Given the description of an element on the screen output the (x, y) to click on. 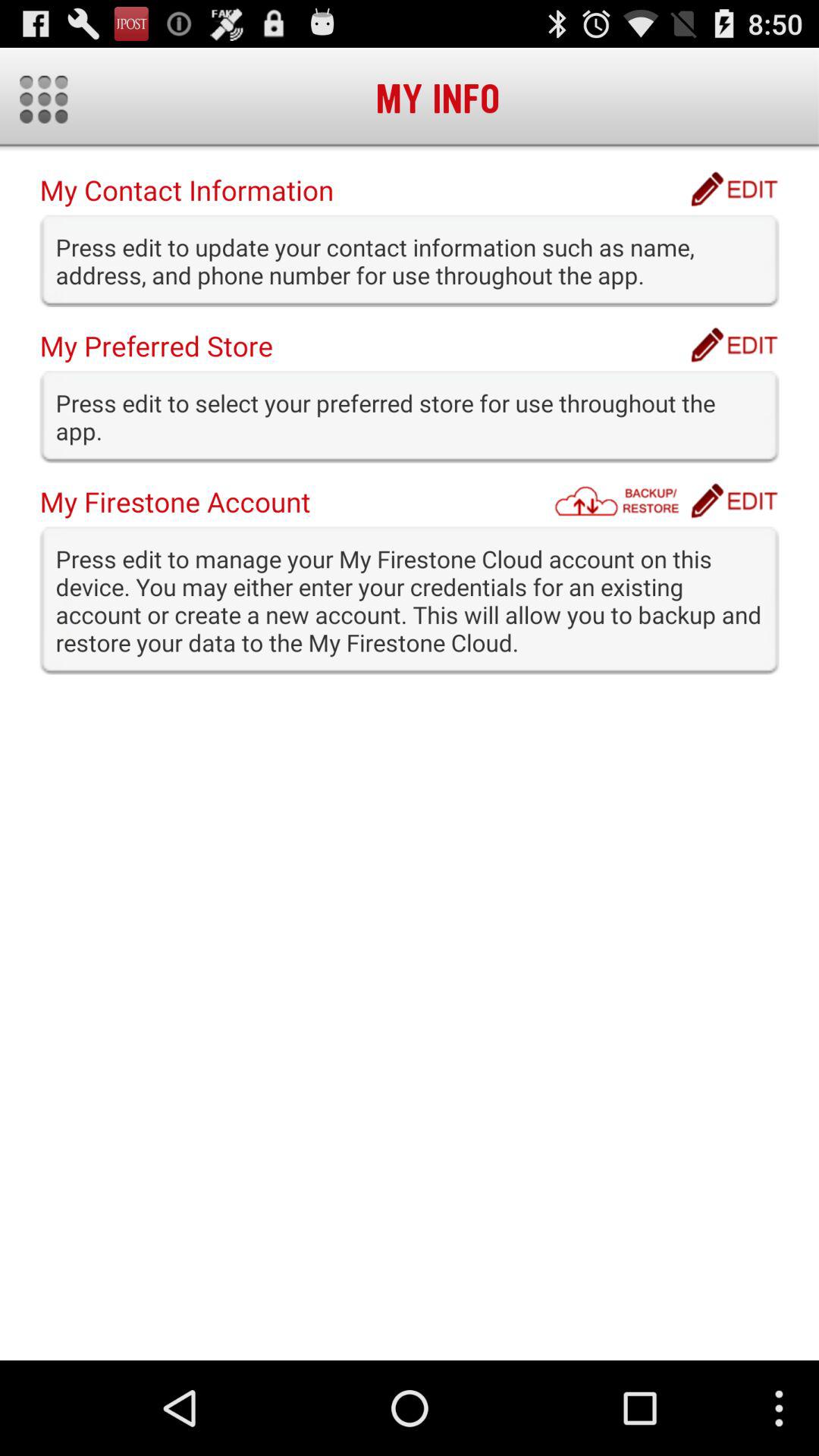
edit (734, 189)
